Given the description of an element on the screen output the (x, y) to click on. 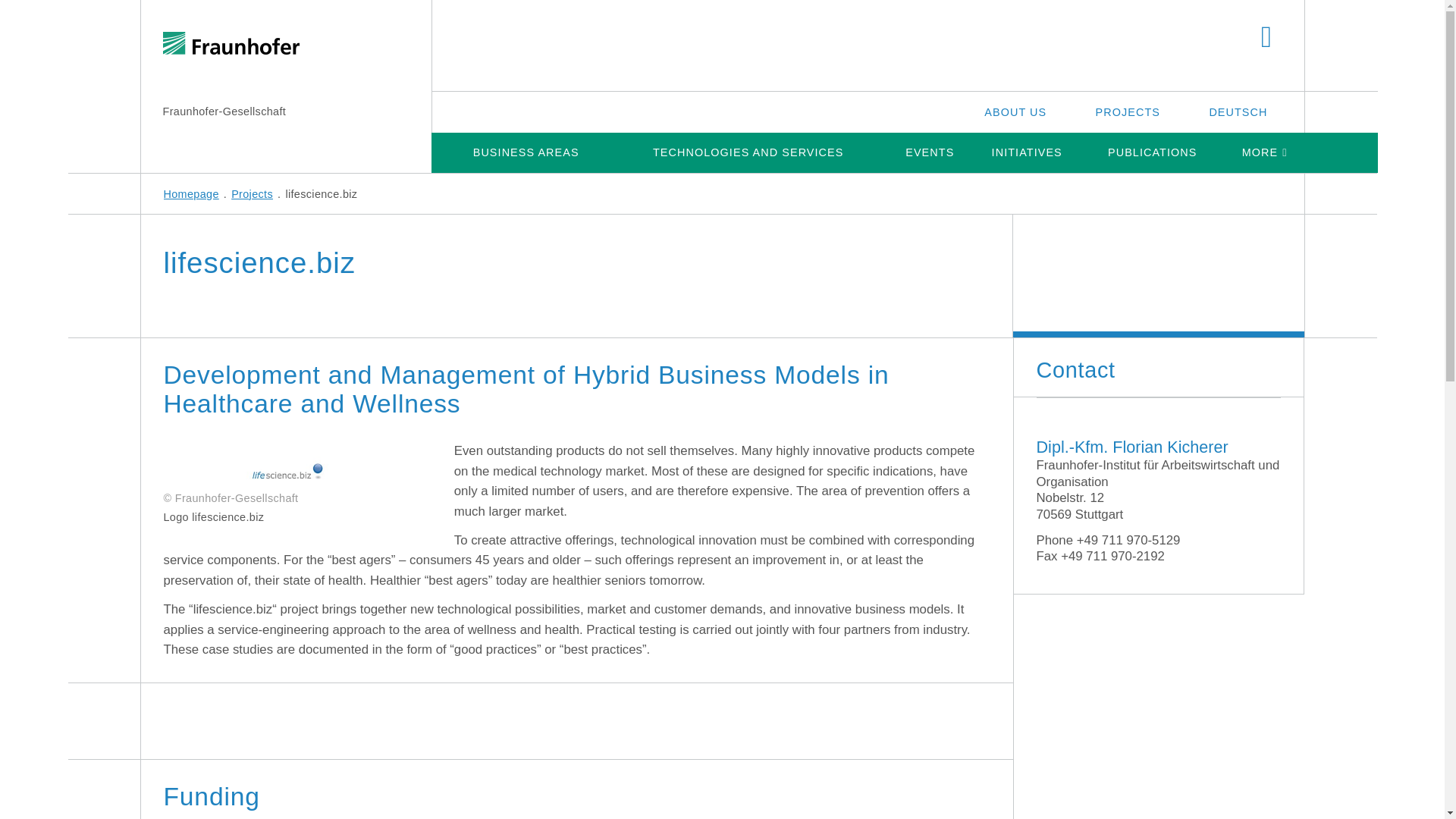
ABOUT US (1014, 111)
TECHNOLOGIES AND SERVICES (748, 151)
SEARCH (1266, 37)
Fraunhofer-Gesellschaft (223, 111)
PUBLICATIONS (1152, 151)
Logo lifescience.biz (275, 463)
INITIATIVES (1027, 151)
DEUTSCH (1238, 111)
BUSINESS AREAS (525, 151)
PROJECTS (1127, 111)
